Given the description of an element on the screen output the (x, y) to click on. 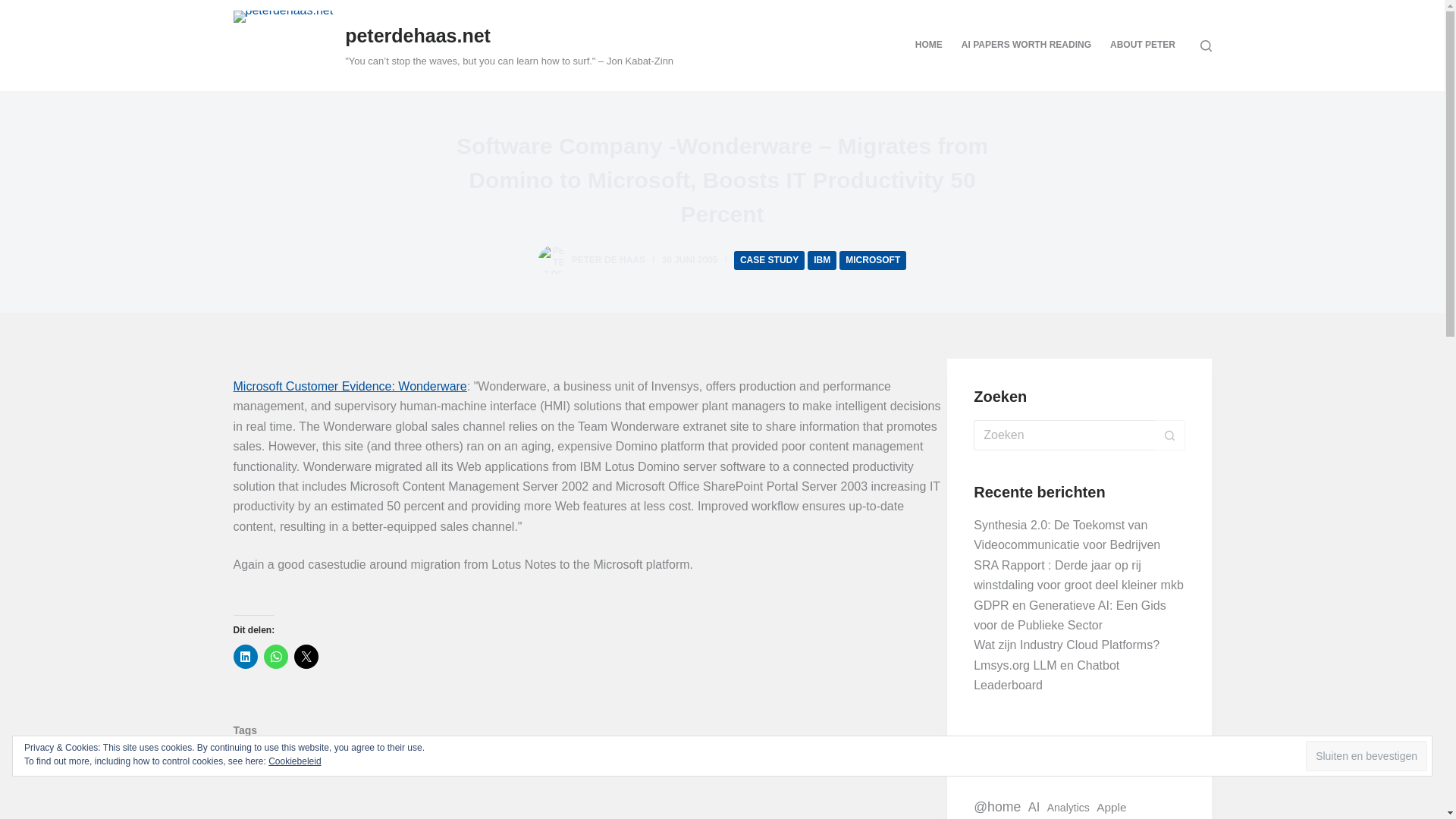
HOME (928, 45)
AI PAPERS WORTH READING (1026, 45)
Berichten door Peter de Haas (608, 259)
IBM (821, 260)
Ga naar de inhoud (15, 7)
ABOUT PETER (1142, 45)
Klik om te delen op X (306, 656)
Lmsys.org LLM en Chatbot Leaderboard (1046, 675)
Wat zijn Industry Cloud Platforms? (1066, 644)
Zoek naar... (1064, 435)
PETER DE HAAS (608, 259)
GDPR en Generatieve AI: Een Gids voor de Publieke Sector (1070, 614)
peterdehaas.net (417, 35)
